Given the description of an element on the screen output the (x, y) to click on. 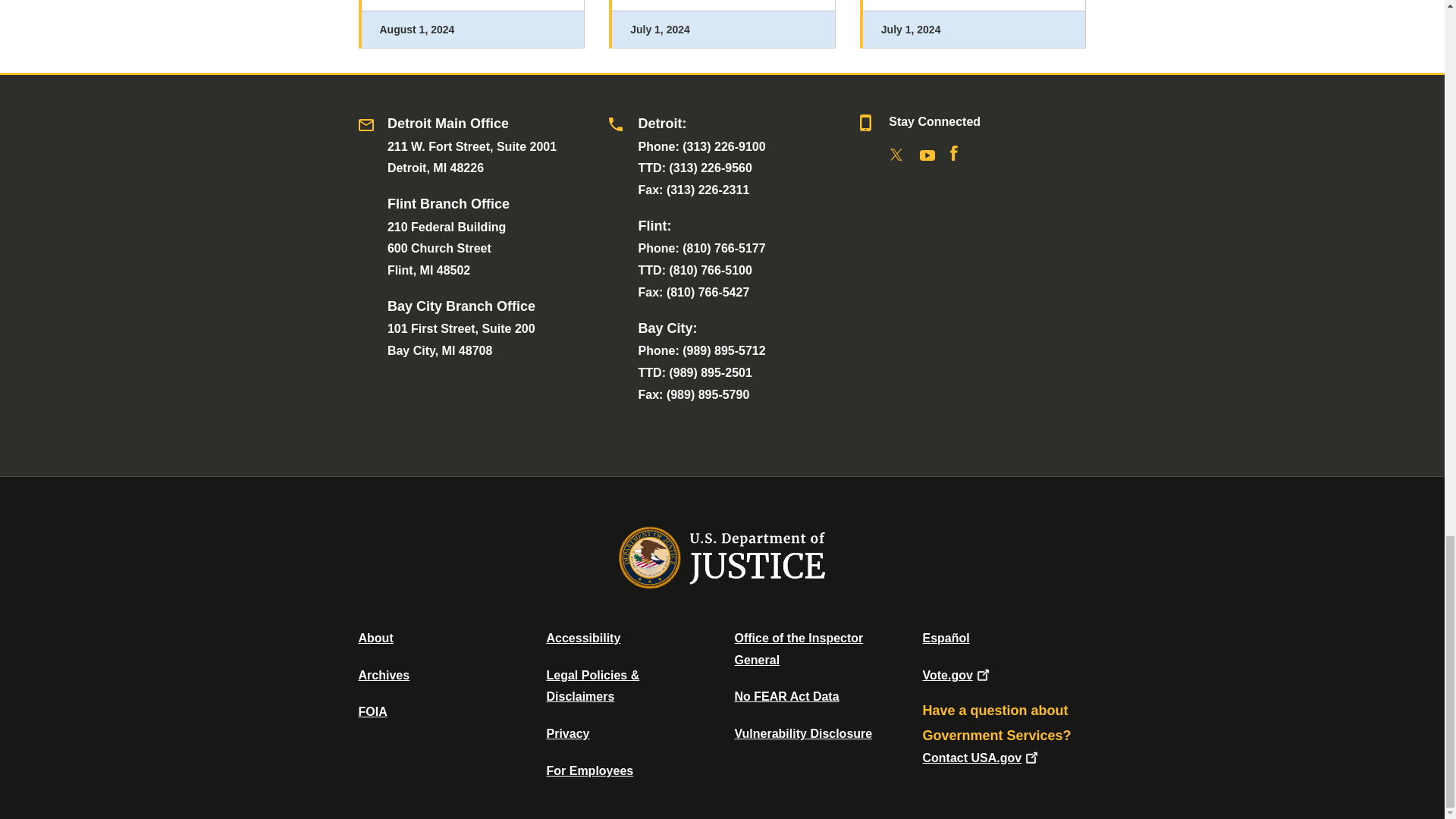
Accessibility Statement (583, 637)
Department of Justice Archive (383, 675)
Legal Policies and Disclaimers (592, 686)
For Employees (589, 770)
Data Posted Pursuant To The No Fear Act (785, 696)
About DOJ (375, 637)
Office of Information Policy (372, 711)
